Given the description of an element on the screen output the (x, y) to click on. 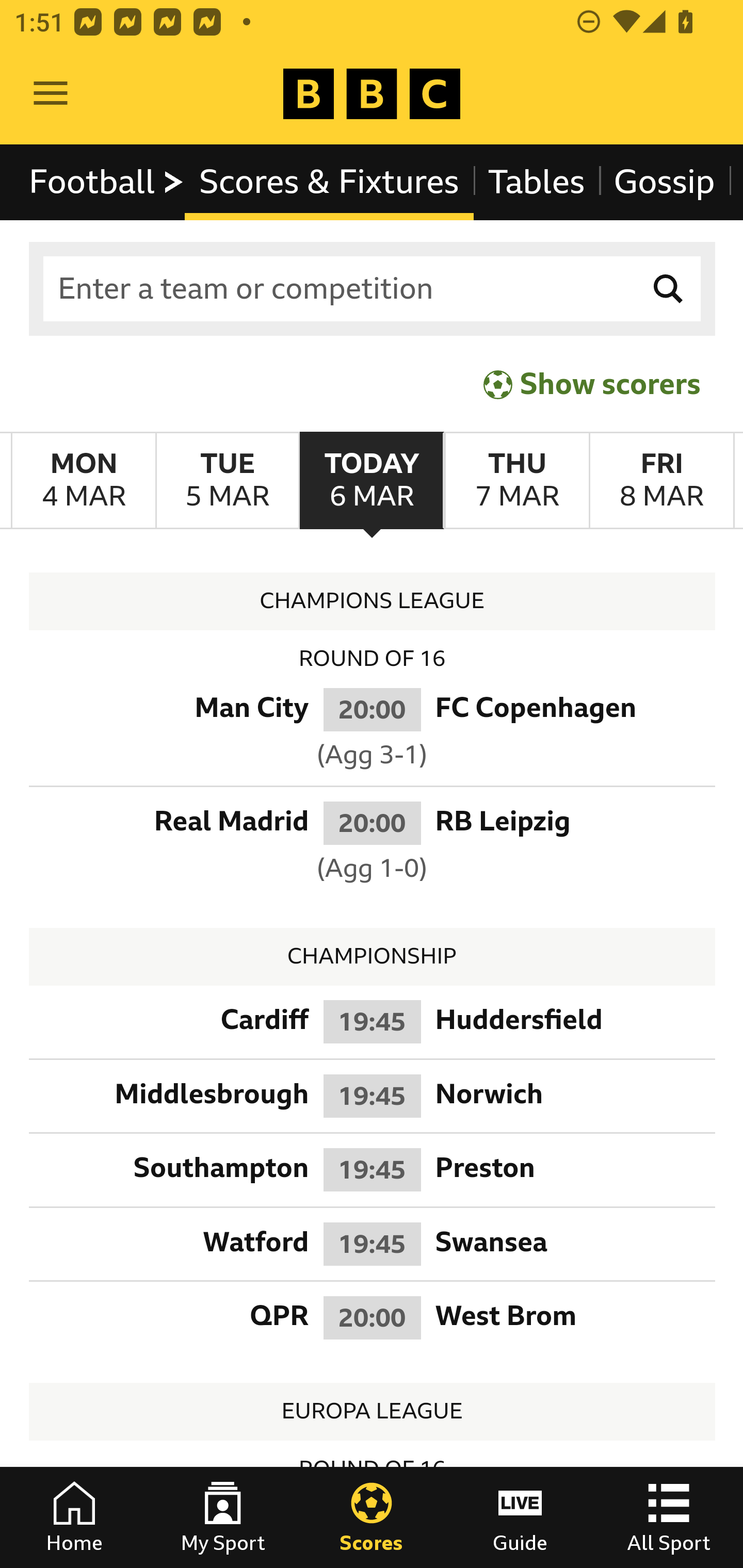
Open Menu (50, 93)
Football  (106, 181)
Scores & Fixtures (329, 181)
Tables (536, 181)
Gossip (664, 181)
Search (669, 289)
Show scorers (591, 383)
MondayMarch 4th Monday March 4th (83, 480)
TuesdayMarch 5th Tuesday March 5th (227, 480)
ThursdayMarch 7th Thursday March 7th (516, 480)
FridayMarch 8th Friday March 8th (661, 480)
Home (74, 1517)
My Sport (222, 1517)
Guide (519, 1517)
All Sport (668, 1517)
